Given the description of an element on the screen output the (x, y) to click on. 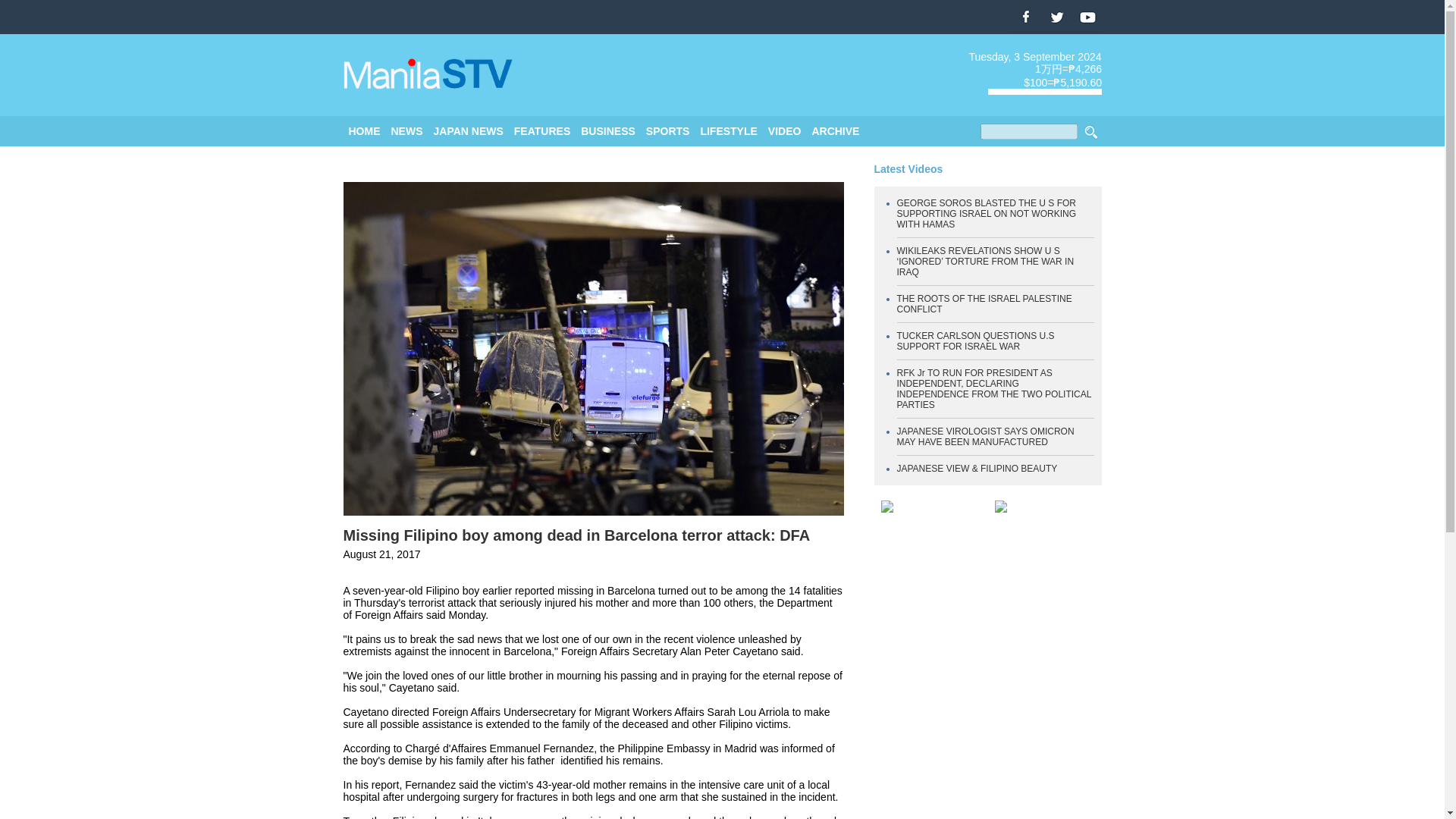
BUSINESS (607, 131)
SPORTS (668, 131)
FEATURES (541, 131)
THE ROOTS OF THE ISRAEL PALESTINE CONFLICT (983, 303)
LIFESTYLE (728, 131)
JAPAN NEWS (468, 131)
JAPANESE VIROLOGIST SAYS OMICRON MAY HAVE BEEN MANUFACTURED (985, 436)
ARCHIVE (834, 131)
The Daily Manila Shimbun (427, 74)
